Given the description of an element on the screen output the (x, y) to click on. 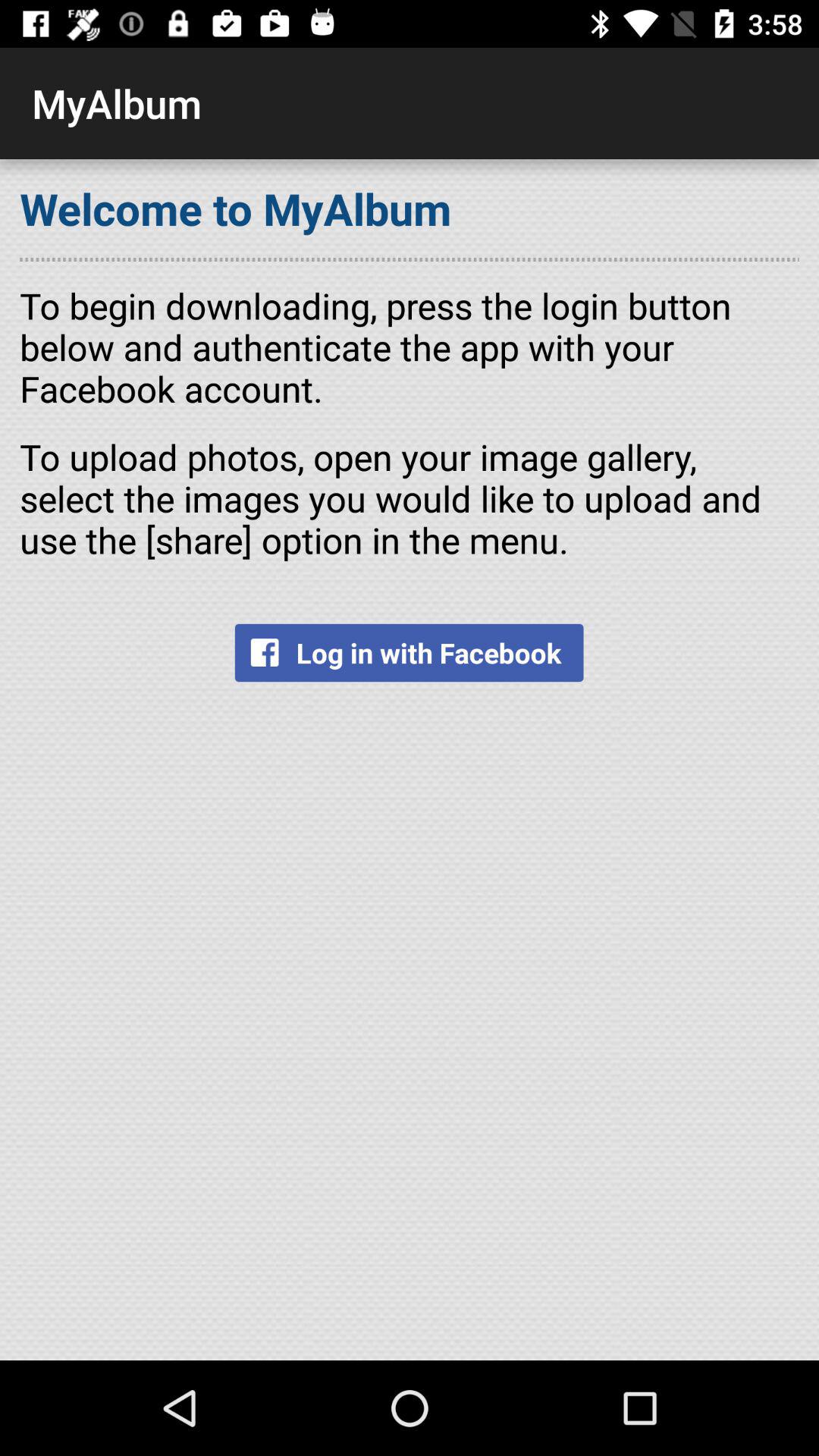
tap the item below to upload photos icon (408, 652)
